Given the description of an element on the screen output the (x, y) to click on. 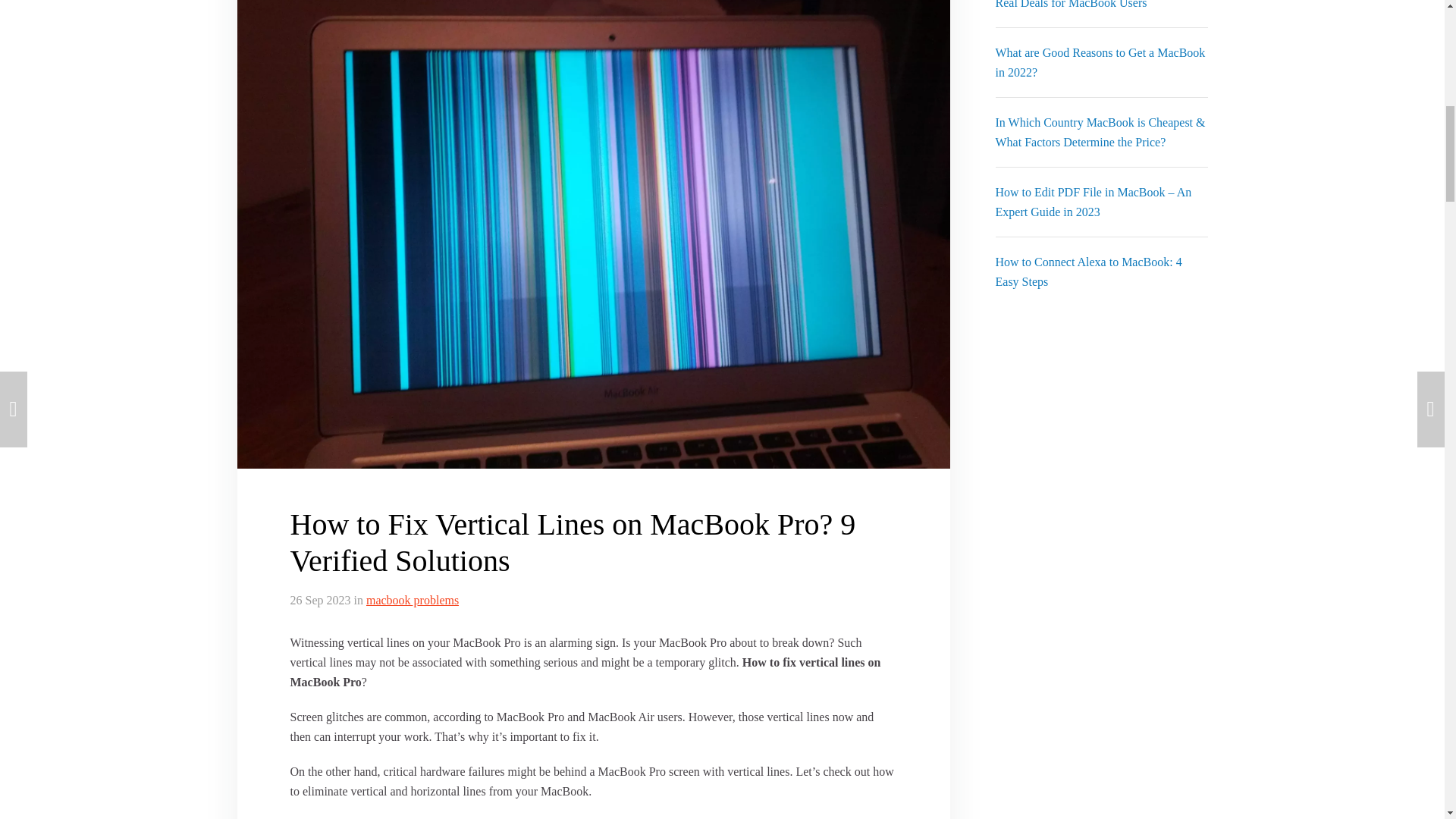
macbook problems (412, 599)
